Given the description of an element on the screen output the (x, y) to click on. 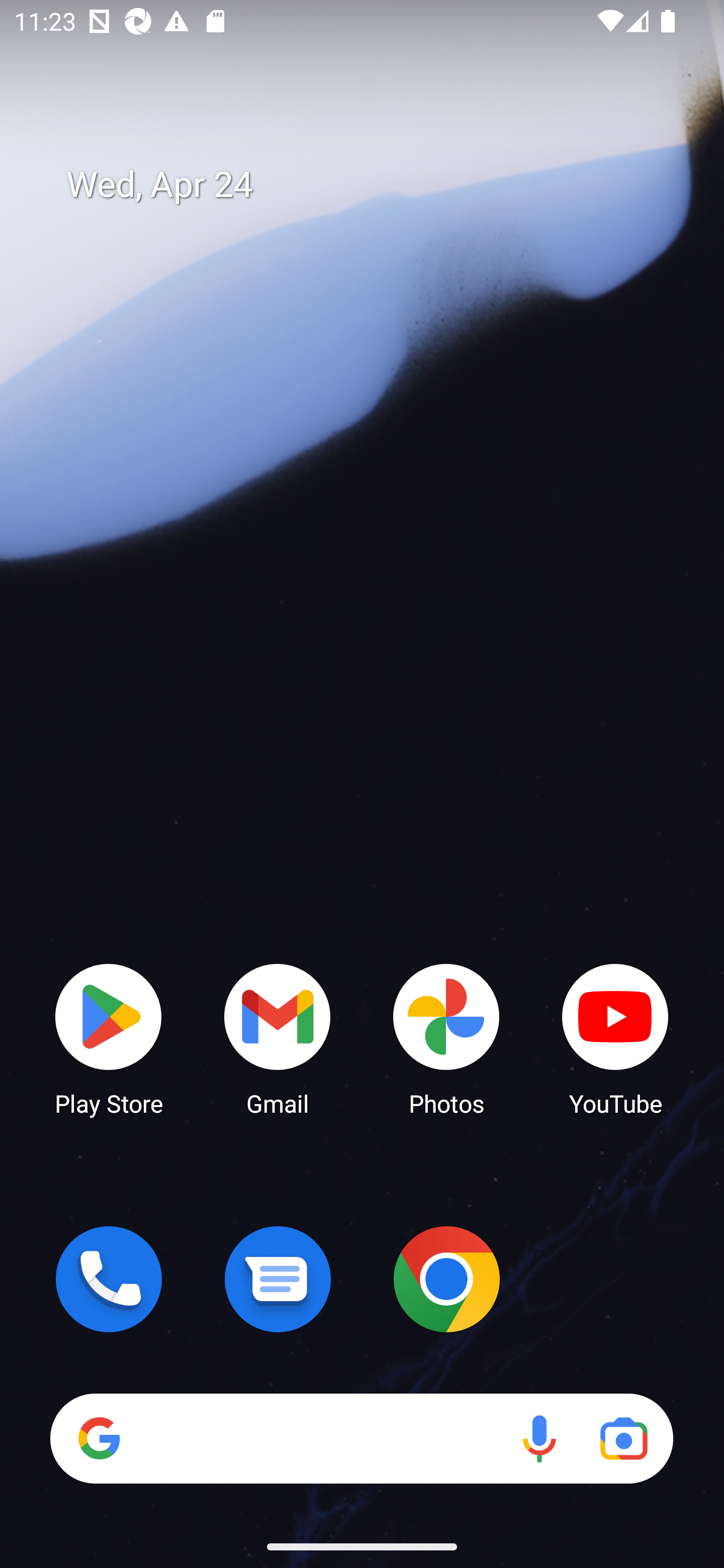
Wed, Apr 24 (375, 184)
Play Store (108, 1038)
Gmail (277, 1038)
Photos (445, 1038)
YouTube (615, 1038)
Phone (108, 1279)
Messages (277, 1279)
Chrome (446, 1279)
Search Voice search Google Lens (361, 1438)
Voice search (539, 1438)
Google Lens (623, 1438)
